Given the description of an element on the screen output the (x, y) to click on. 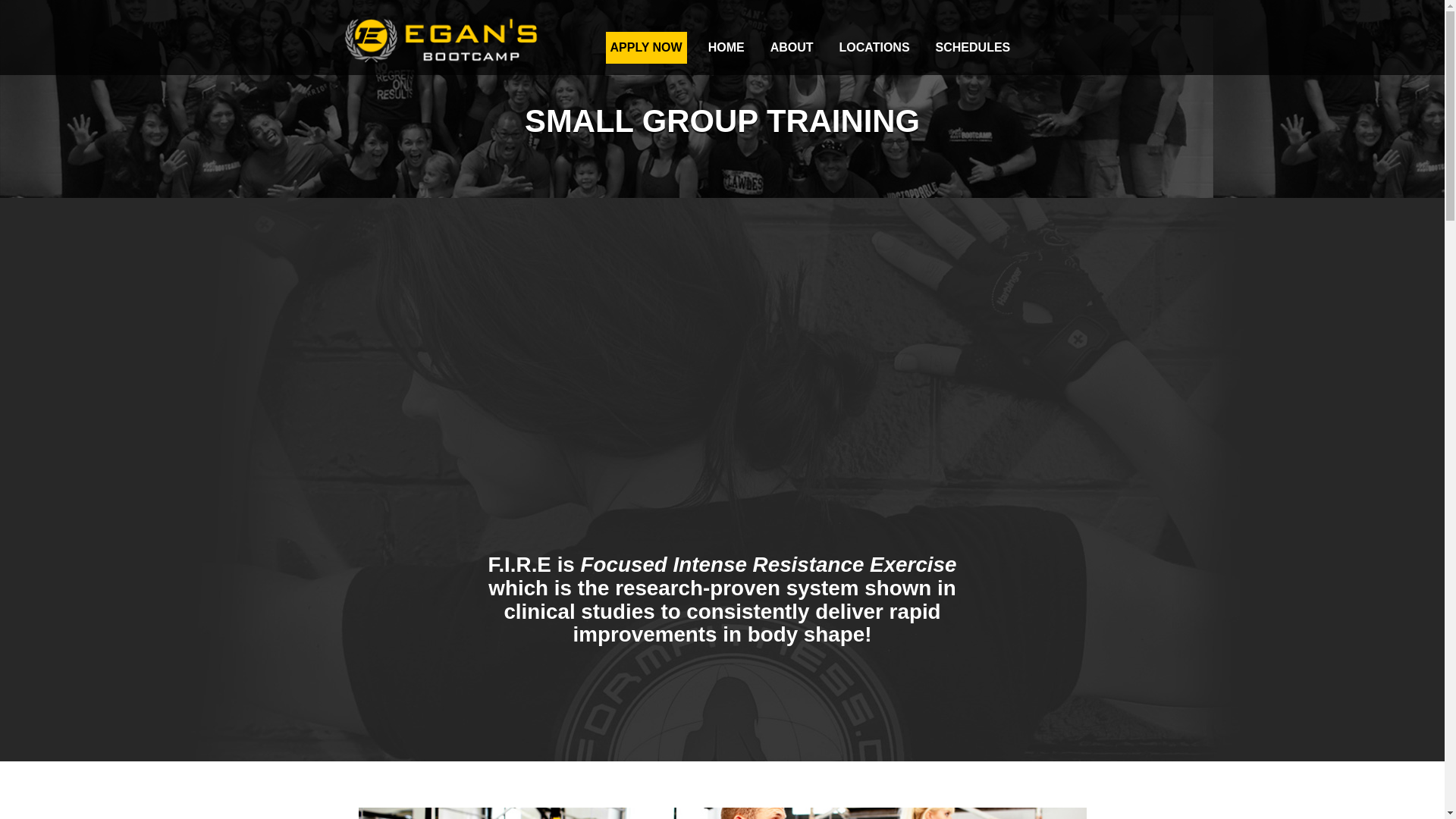
Egans Bootcamp (442, 61)
HOME (726, 47)
SCHEDULES (972, 47)
ABOUT (791, 47)
APPLY NOW (645, 47)
LOCATIONS (874, 47)
